Given the description of an element on the screen output the (x, y) to click on. 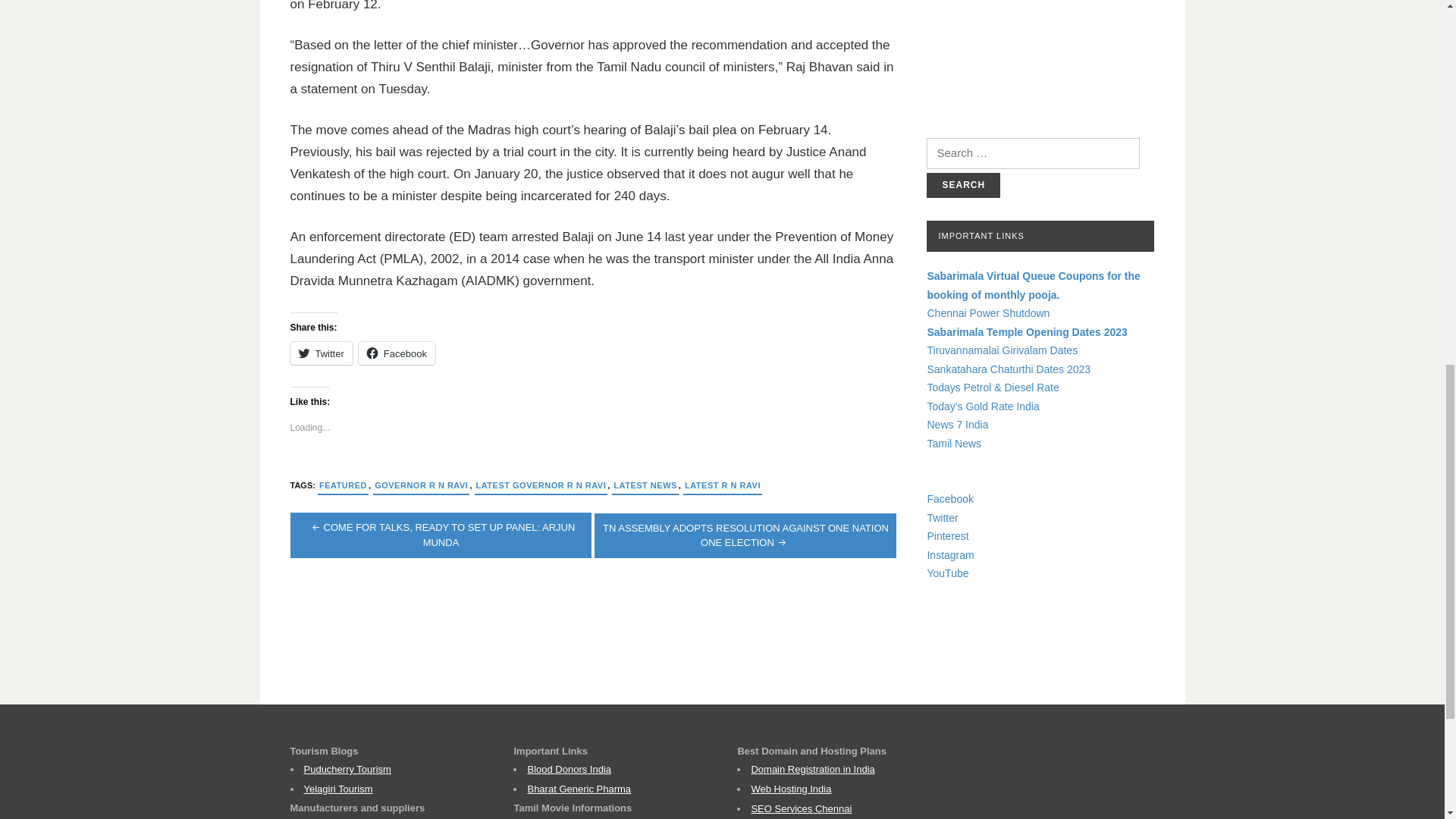
Click to share on Facebook (396, 353)
Click to share on Twitter (320, 353)
Chennaivision Epaper (1040, 58)
Search (963, 185)
Search (963, 185)
